Given the description of an element on the screen output the (x, y) to click on. 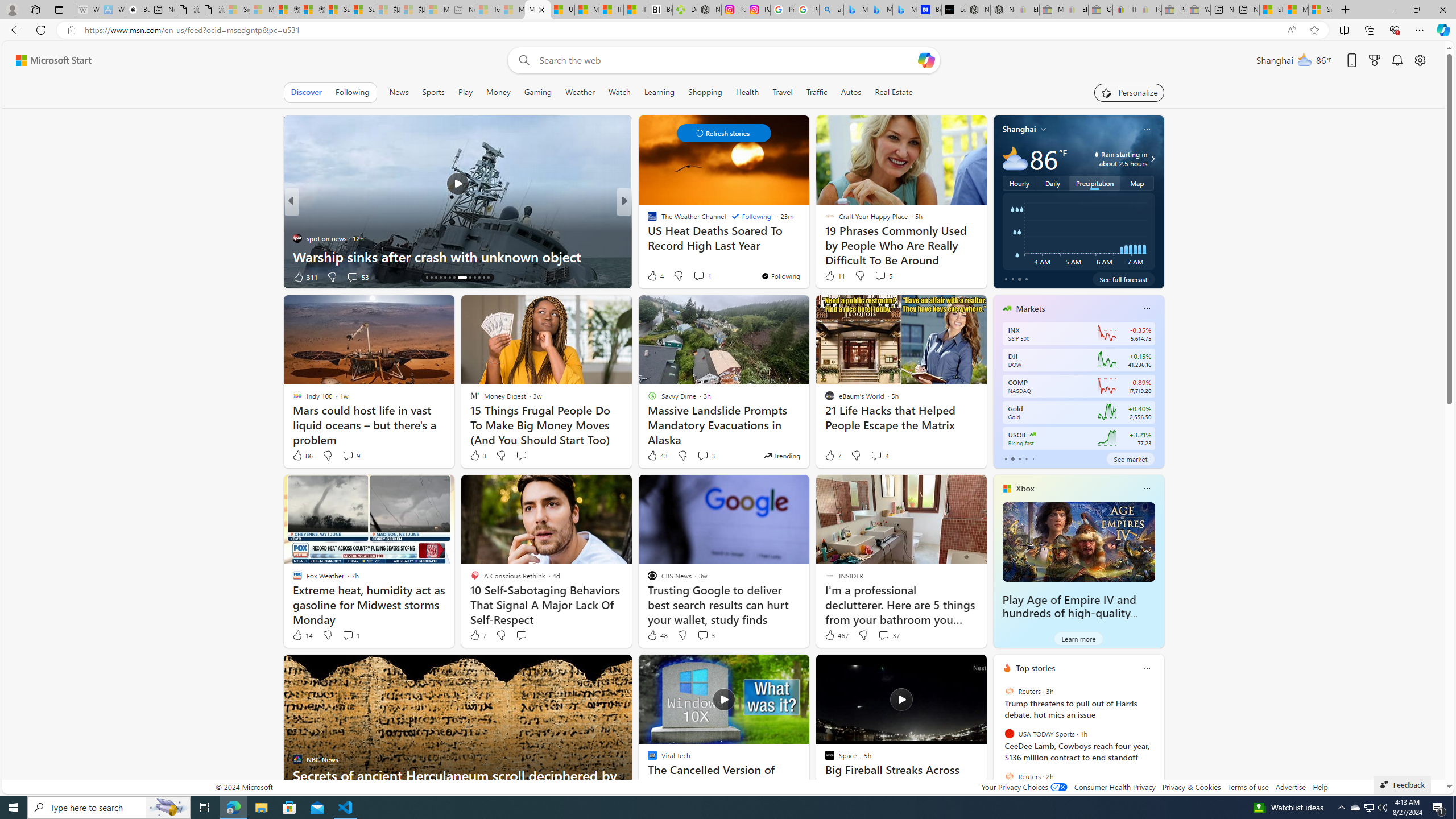
Payments Terms of Use | eBay.com - Sleeping (1149, 9)
Shanghai (1018, 128)
Marine life - MSN - Sleeping (512, 9)
Rain starting in about 2.5 hours (1150, 158)
AutomationID: tab-22 (470, 277)
86 Like (301, 455)
